Given the description of an element on the screen output the (x, y) to click on. 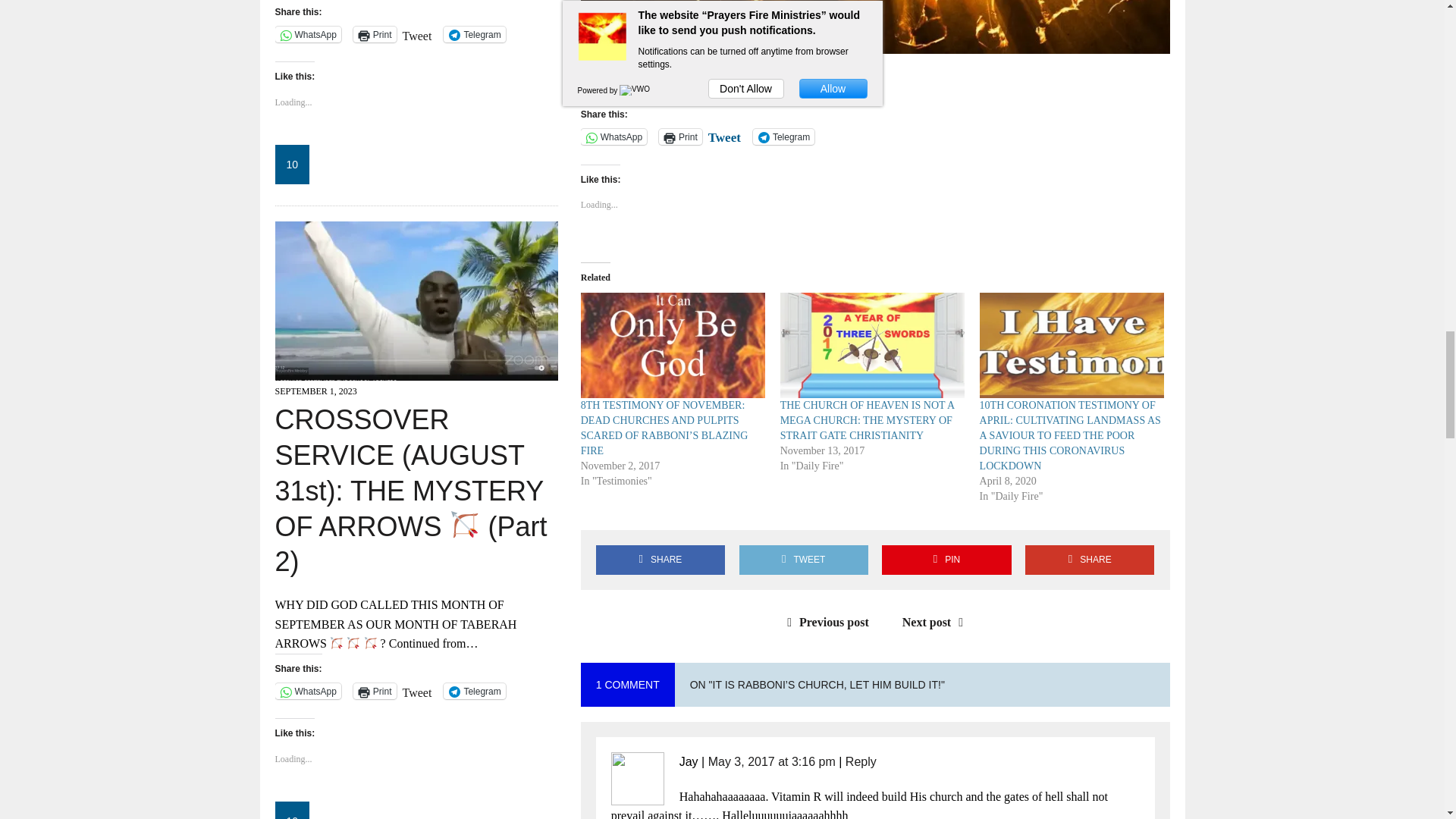
Print (680, 136)
Click to share on WhatsApp (613, 136)
Tweet (724, 135)
WhatsApp (613, 136)
Click to print (680, 136)
Click to share on Telegram (782, 136)
Telegram (782, 136)
